Given the description of an element on the screen output the (x, y) to click on. 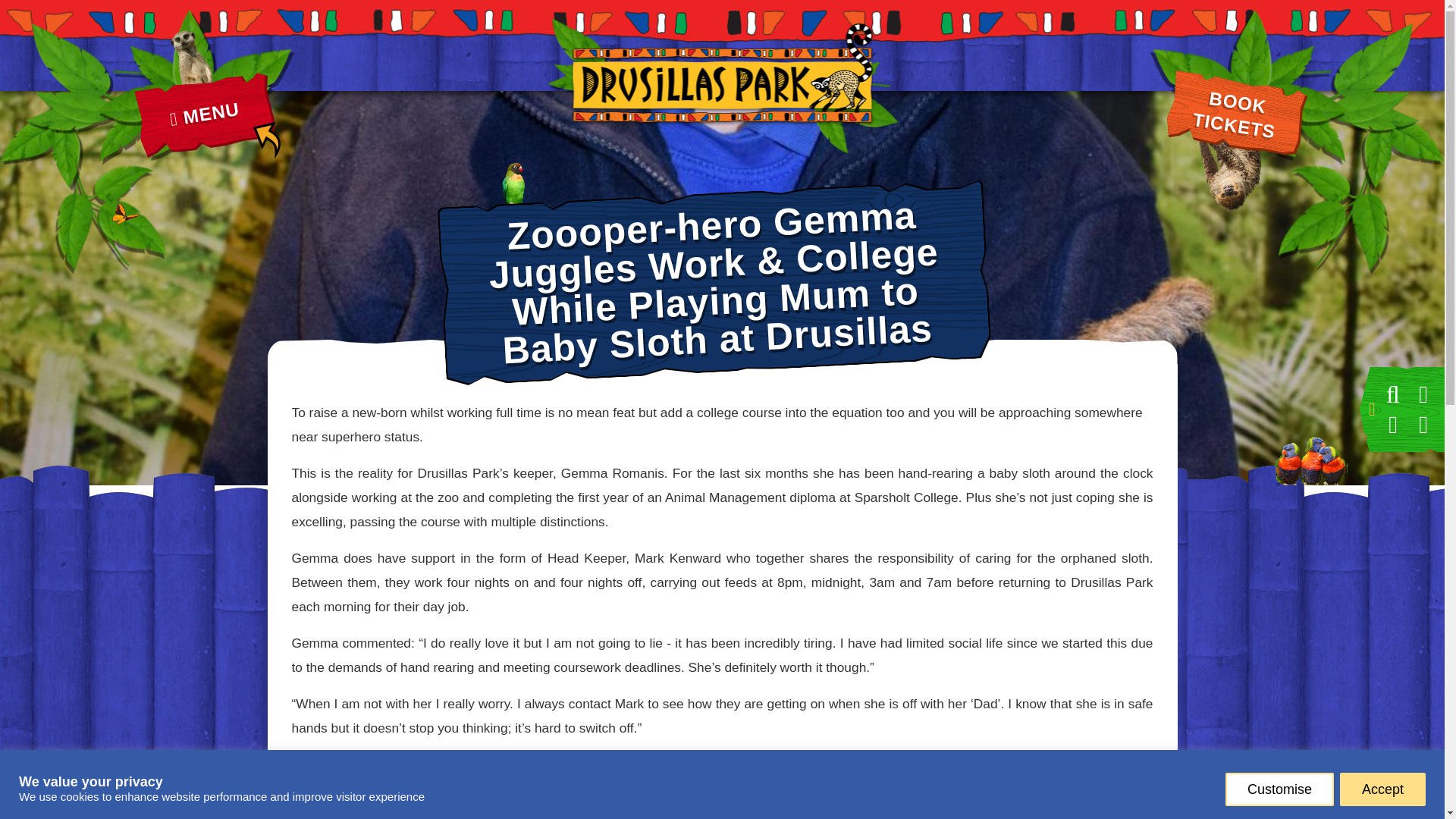
Accept (1230, 105)
MENU (1382, 788)
Customise (201, 105)
